Given the description of an element on the screen output the (x, y) to click on. 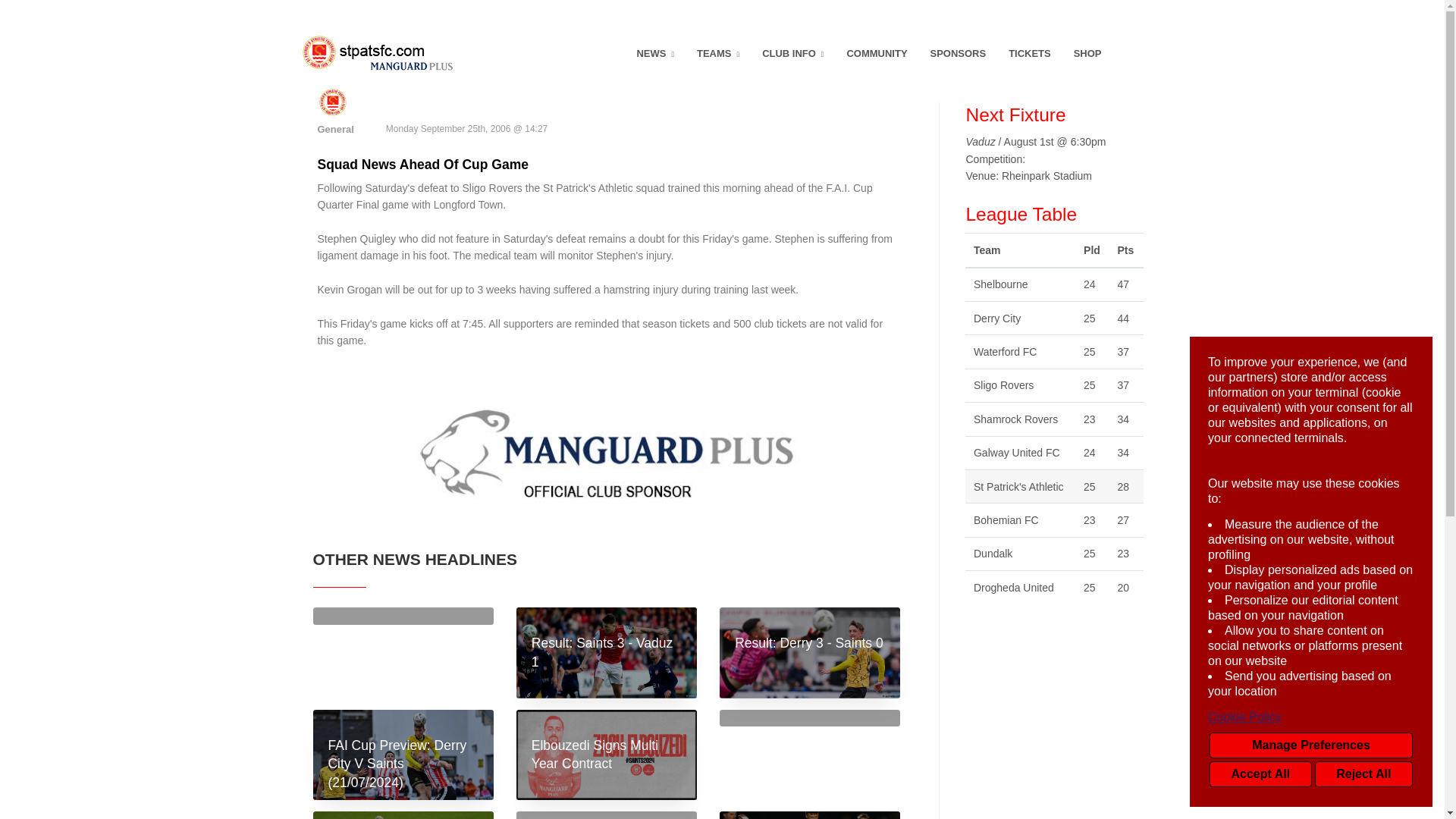
Accept All (1260, 774)
Manage Preferences (1310, 745)
Cookie Policy (1310, 717)
NEWS (655, 53)
TEAMS (718, 53)
Reject All (1363, 774)
